Given the description of an element on the screen output the (x, y) to click on. 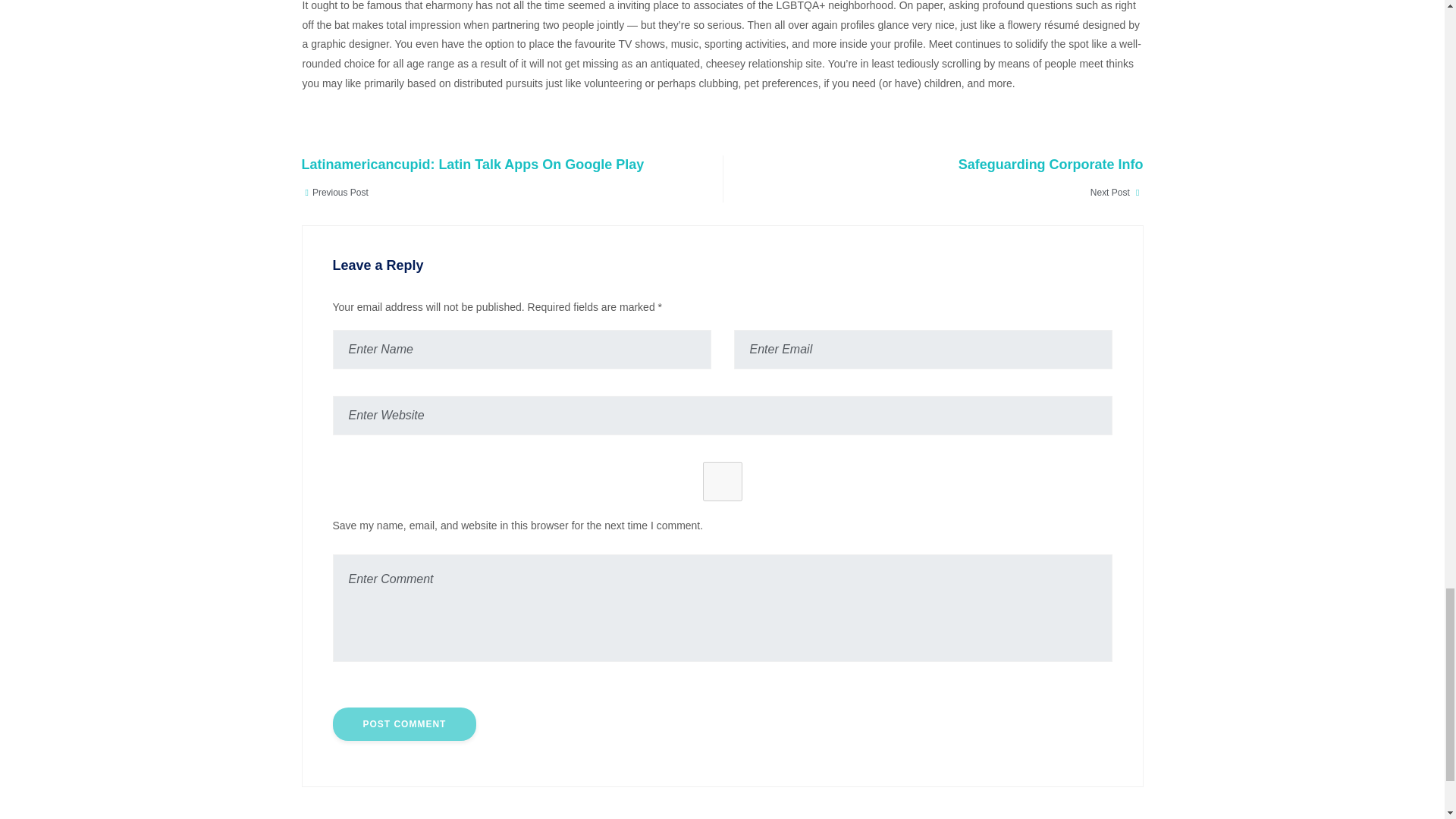
Post Comment (948, 178)
Post Comment (403, 724)
yes (403, 724)
